Given the description of an element on the screen output the (x, y) to click on. 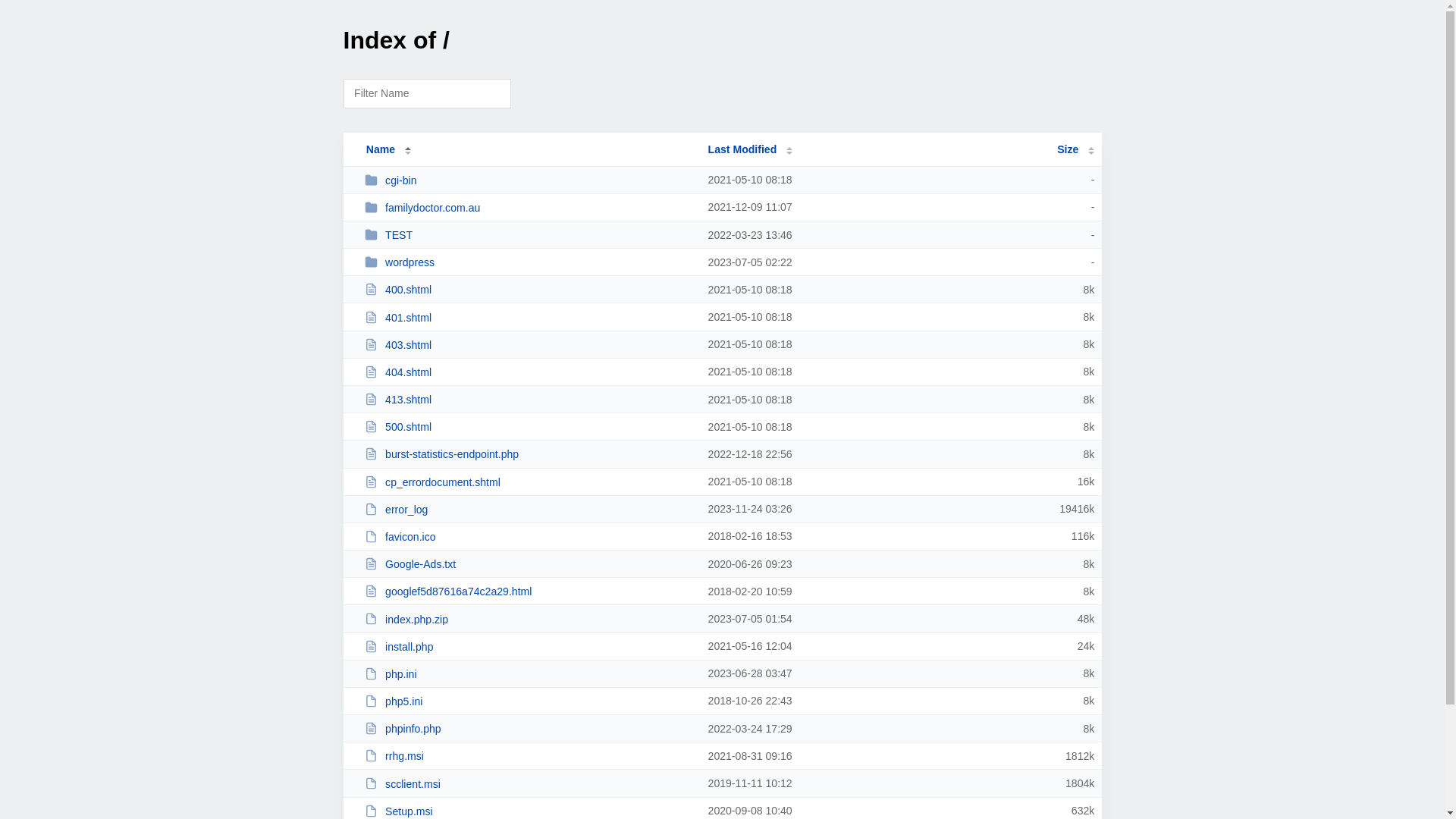
Name Element type: text (380, 149)
scclient.msi Element type: text (529, 783)
index.php.zip Element type: text (529, 618)
401.shtml Element type: text (529, 316)
install.php Element type: text (529, 646)
Google-Ads.txt Element type: text (529, 563)
TEST Element type: text (529, 234)
403.shtml Element type: text (529, 344)
php.ini Element type: text (529, 673)
burst-statistics-endpoint.php Element type: text (529, 453)
Setup.msi Element type: text (529, 810)
500.shtml Element type: text (529, 426)
cp_errordocument.shtml Element type: text (529, 481)
familydoctor.com.au Element type: text (529, 206)
googlef5d87616a74c2a29.html Element type: text (529, 590)
Size Element type: text (1075, 149)
wordpress Element type: text (529, 261)
cgi-bin Element type: text (529, 179)
404.shtml Element type: text (529, 371)
413.shtml Element type: text (529, 398)
favicon.ico Element type: text (529, 536)
error_log Element type: text (529, 508)
phpinfo.php Element type: text (529, 727)
rrhg.msi Element type: text (529, 755)
400.shtml Element type: text (529, 288)
php5.ini Element type: text (529, 700)
Last Modified Element type: text (750, 149)
